Given the description of an element on the screen output the (x, y) to click on. 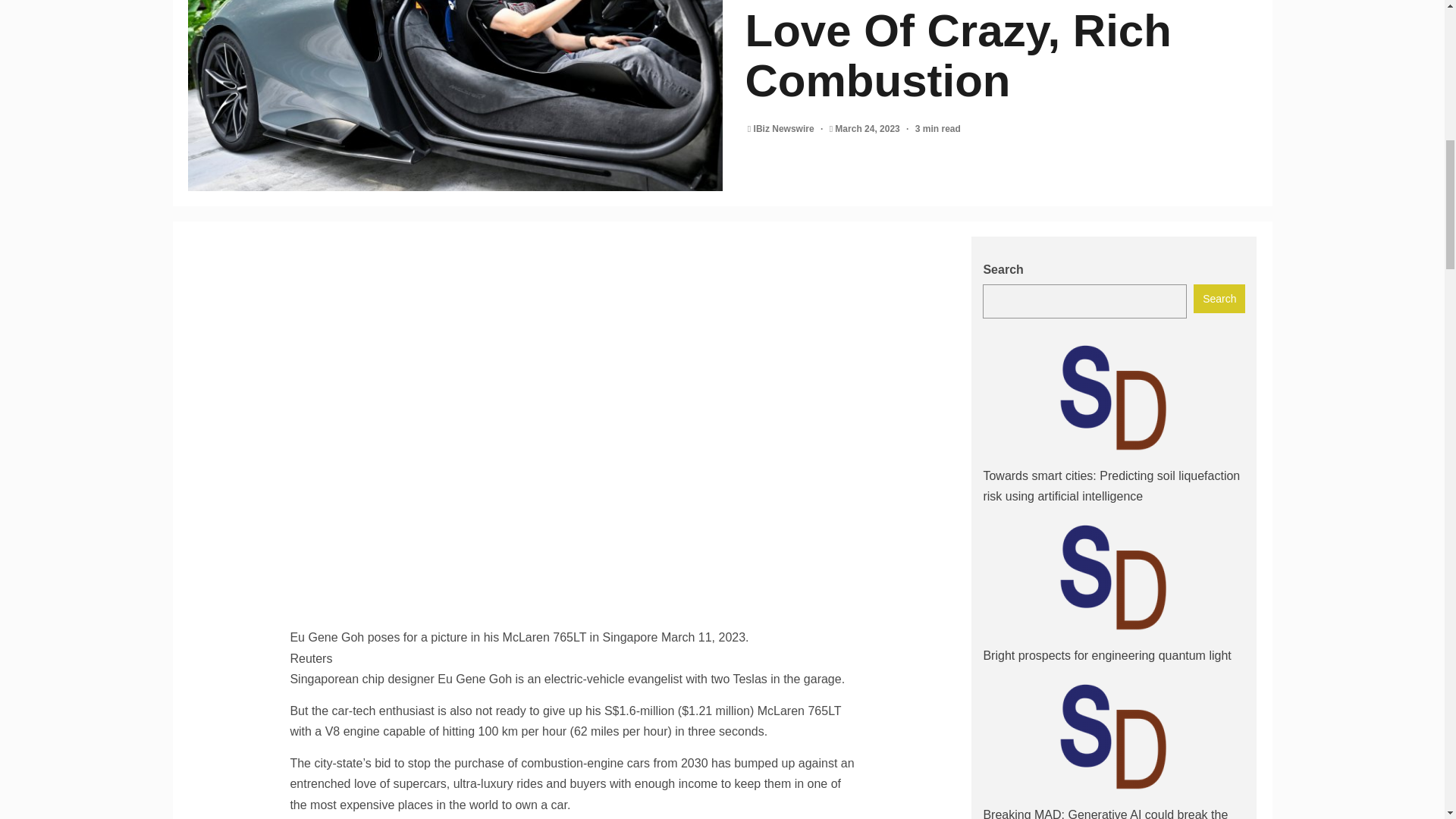
Search (1218, 298)
IBiz Newswire (785, 128)
Bright prospects for engineering quantum light (1106, 655)
